Given the description of an element on the screen output the (x, y) to click on. 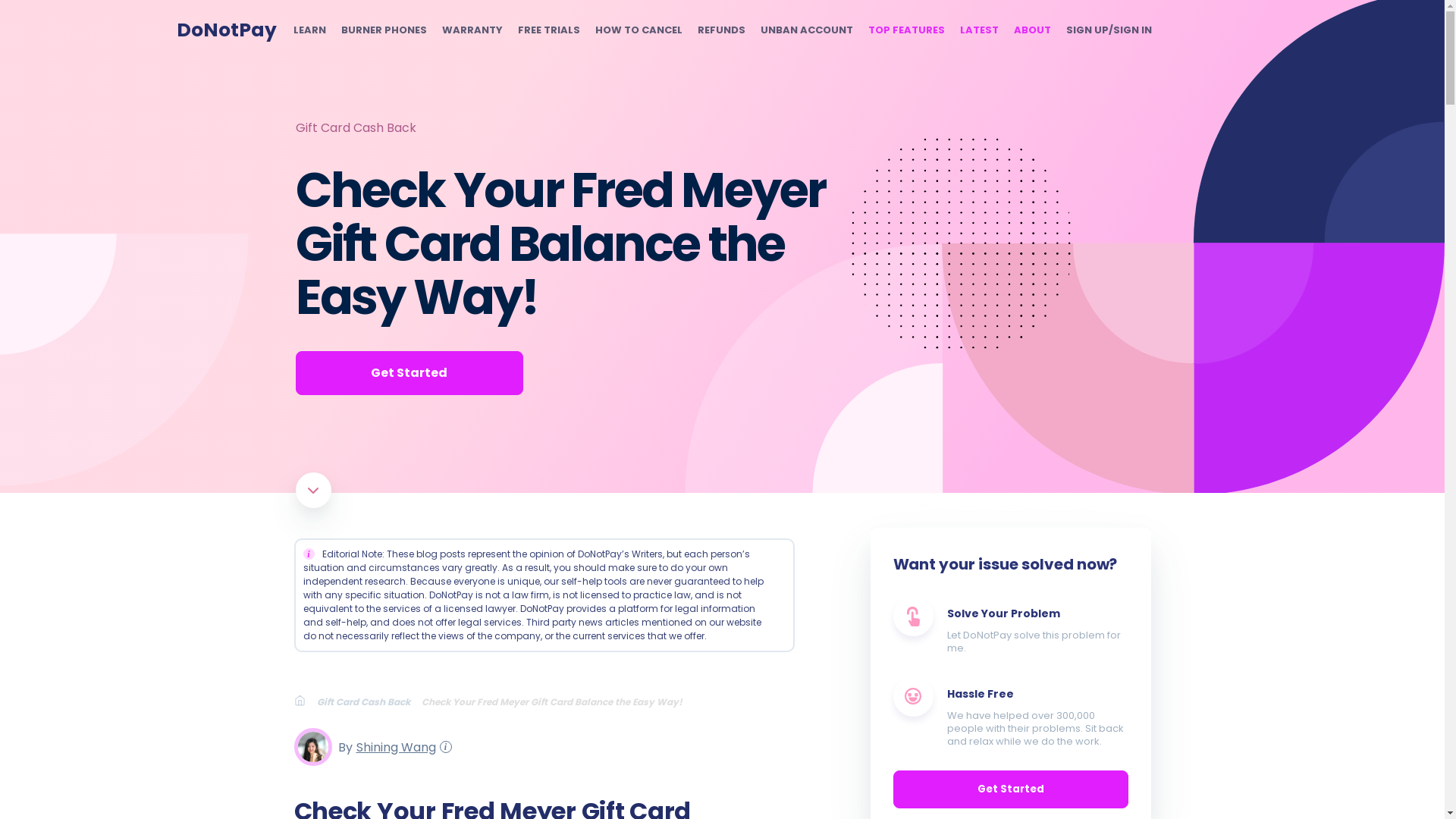
TOP FEATURES (905, 29)
LEARN (308, 29)
UNBAN ACCOUNT (805, 29)
FREE TRIALS (547, 29)
Gift Card Cash Back (369, 700)
WARRANTY (471, 29)
HOW TO CANCEL (637, 29)
Shining Wang (393, 746)
Get Started (408, 372)
Gift Card Cash Back (355, 127)
LATEST (978, 29)
ABOUT (1031, 29)
REFUNDS (721, 29)
BURNER PHONES (383, 29)
DoNotPay (226, 29)
